Given the description of an element on the screen output the (x, y) to click on. 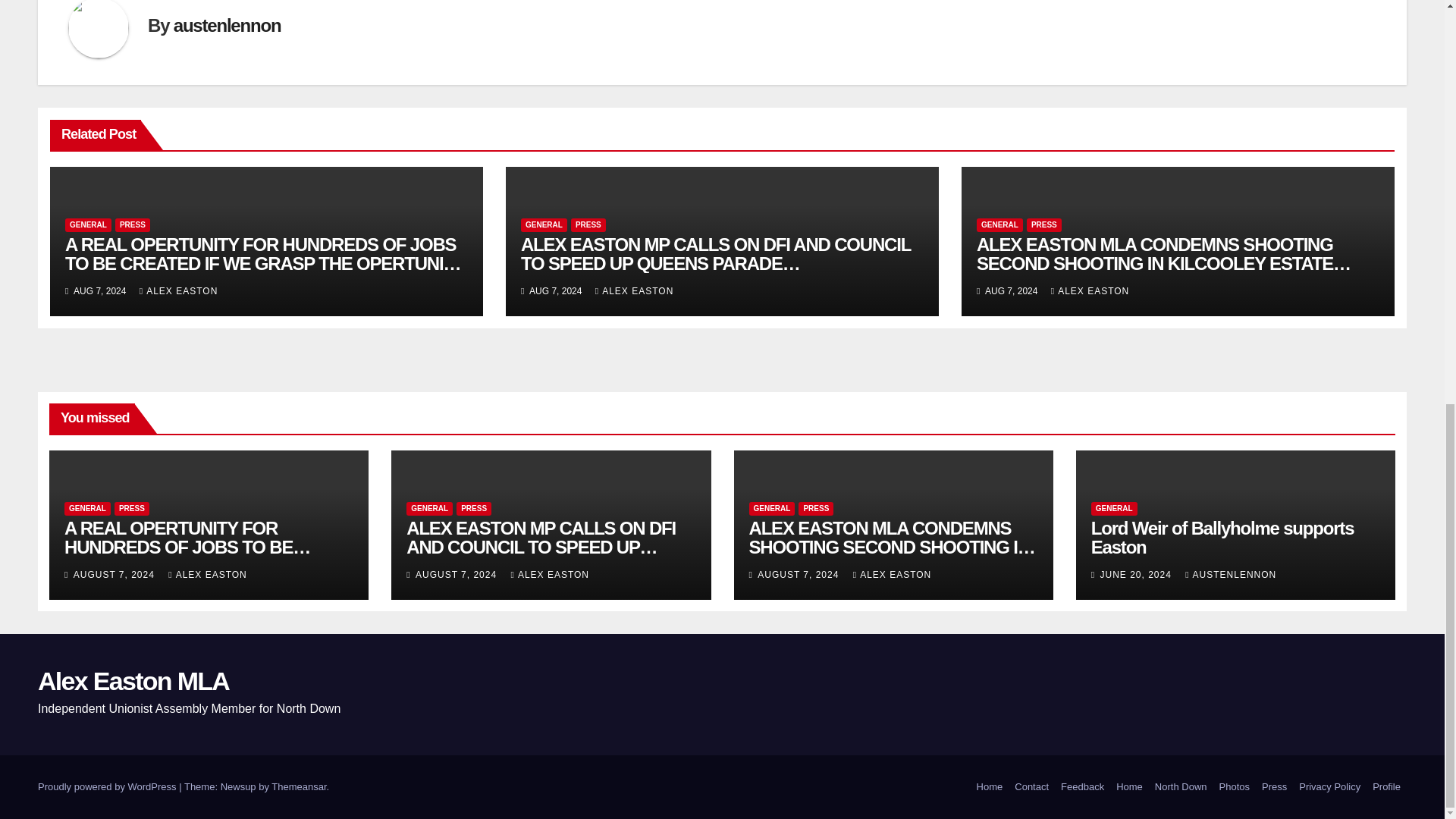
ALEX EASTON (178, 290)
GENERAL (88, 224)
GENERAL (544, 224)
Permalink to: Lord Weir of Ballyholme supports Easton (1222, 537)
PRESS (132, 224)
Home (990, 786)
